Given the description of an element on the screen output the (x, y) to click on. 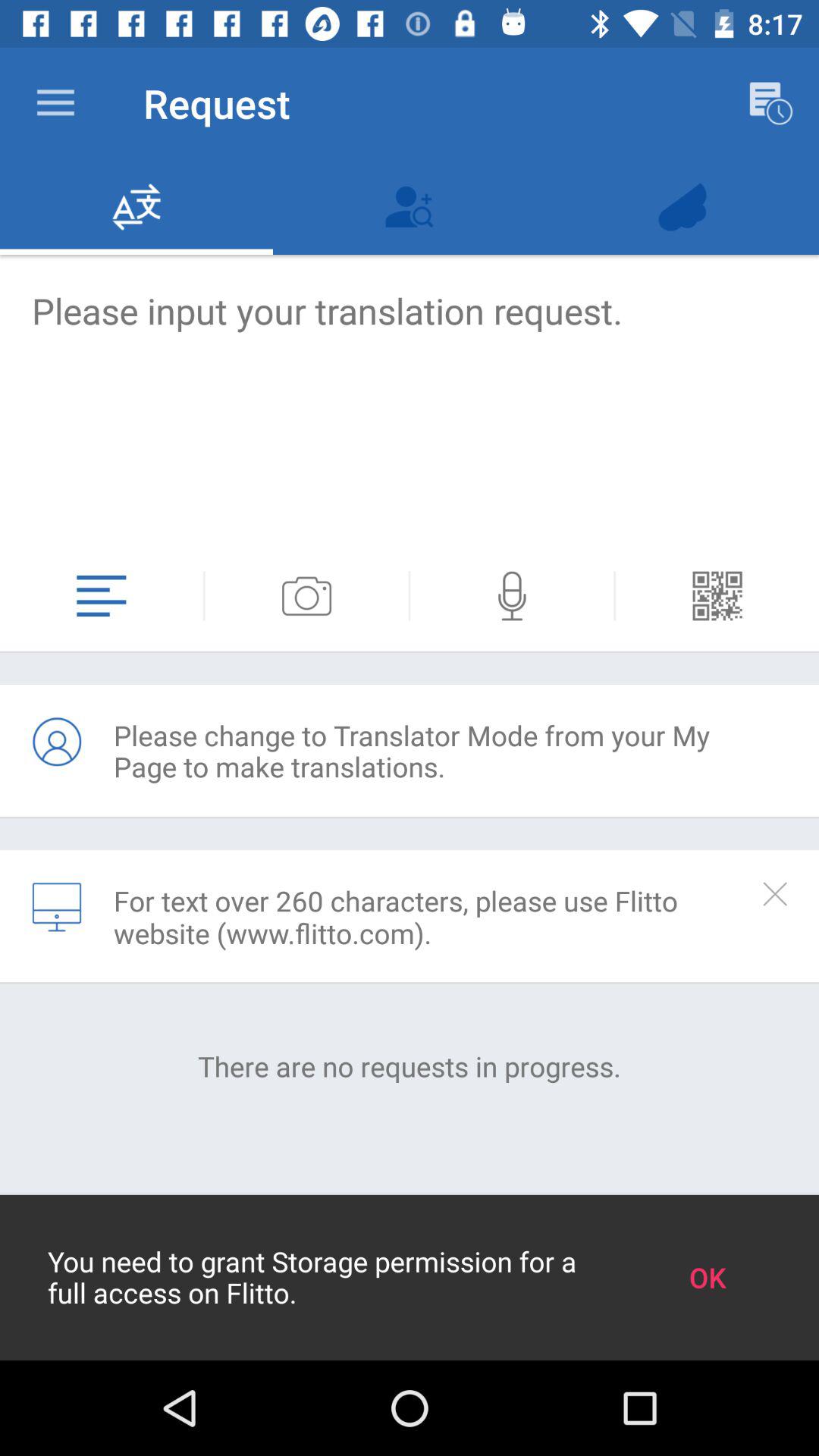
choose the app below please input your (204, 596)
